Given the description of an element on the screen output the (x, y) to click on. 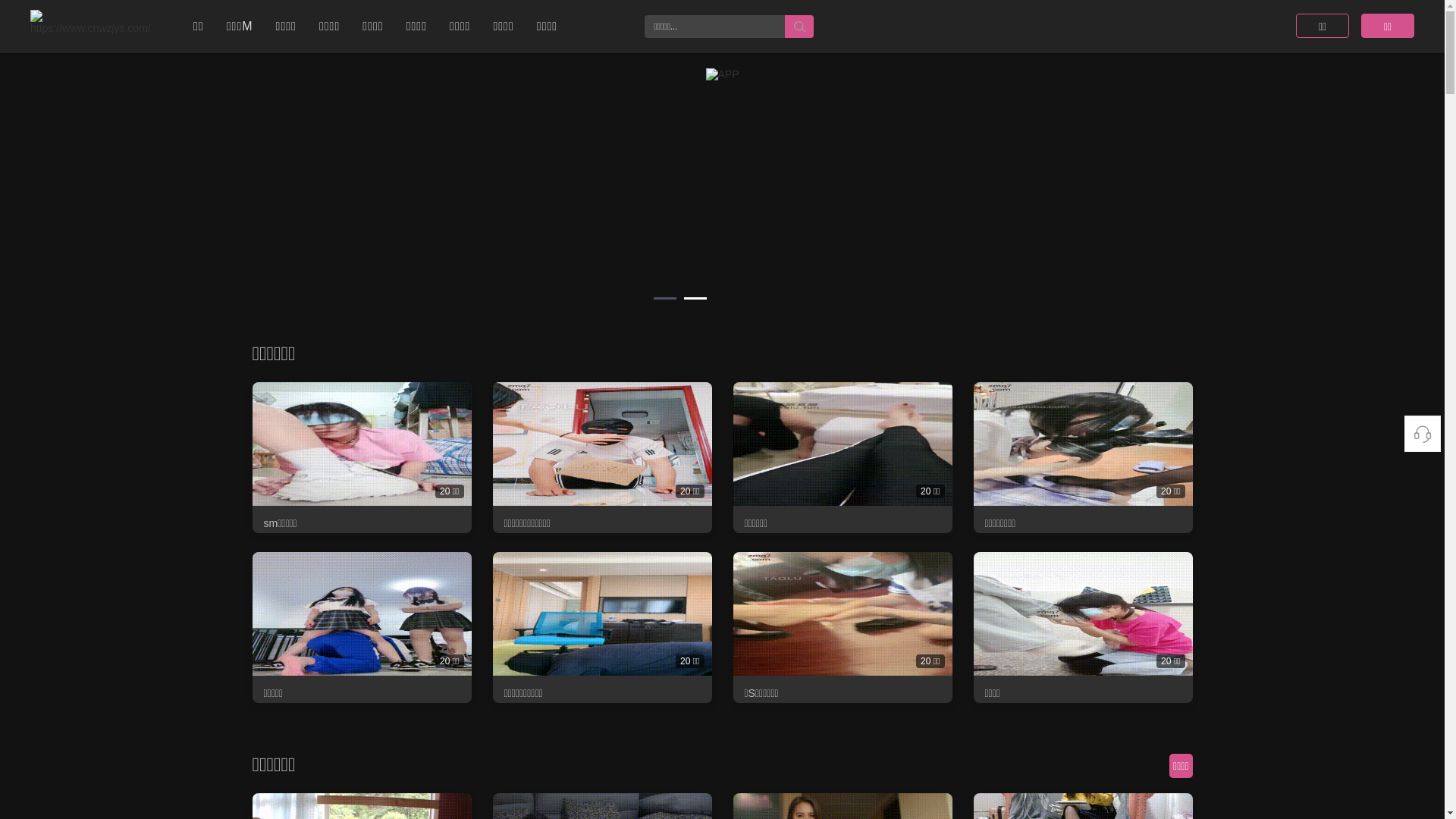
APP Element type: hover (695, 298)
